Given the description of an element on the screen output the (x, y) to click on. 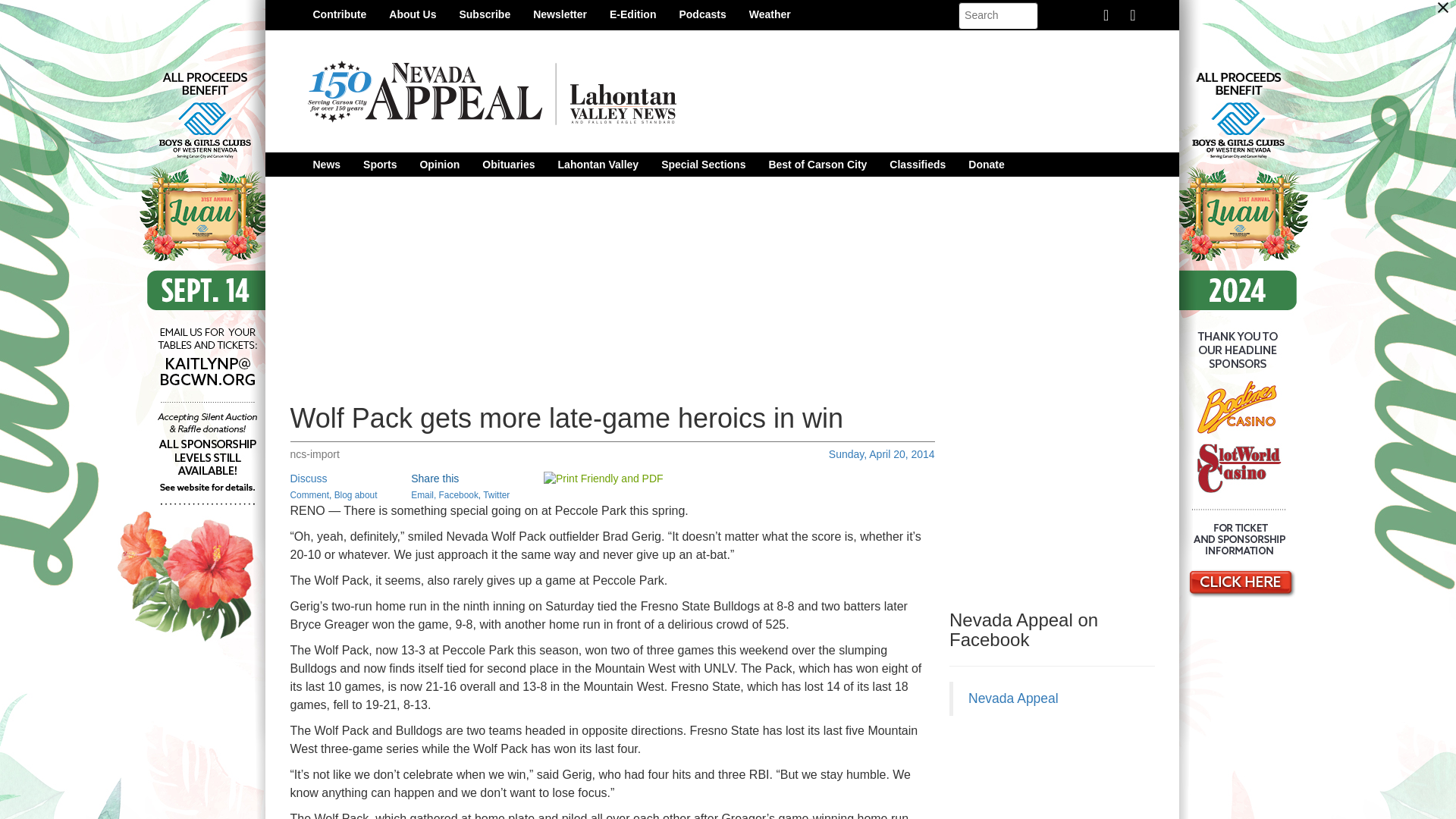
Printer Friendly and PDF (603, 478)
Classifieds (916, 164)
Obituaries (508, 164)
Subscribe (483, 14)
Discuss (307, 478)
Best of Carson City (817, 164)
Comment (309, 494)
Special Sections (703, 164)
Sports (379, 164)
3rd party ad content (1062, 775)
Lahontan Valley (598, 164)
About Us (411, 14)
3rd party ad content (1062, 500)
Contribute (339, 14)
